Given the description of an element on the screen output the (x, y) to click on. 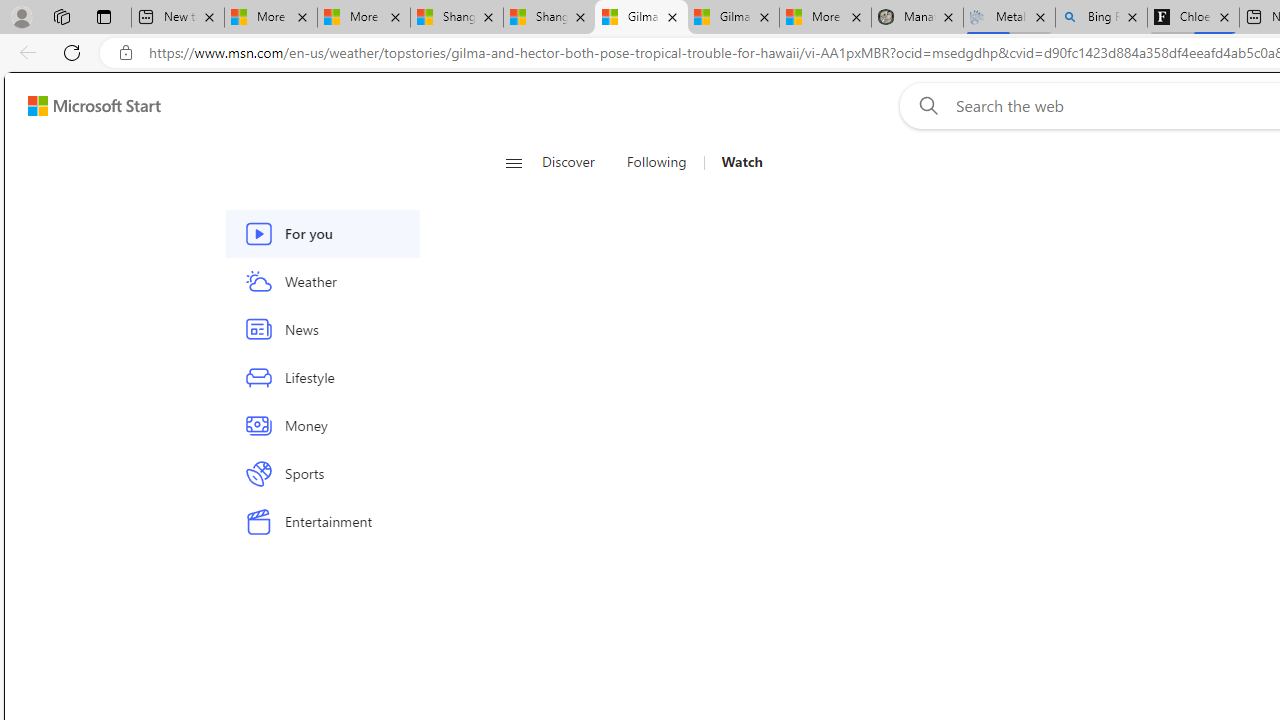
Open navigation menu (513, 162)
Chloe Sorvino (1193, 17)
